Given the description of an element on the screen output the (x, y) to click on. 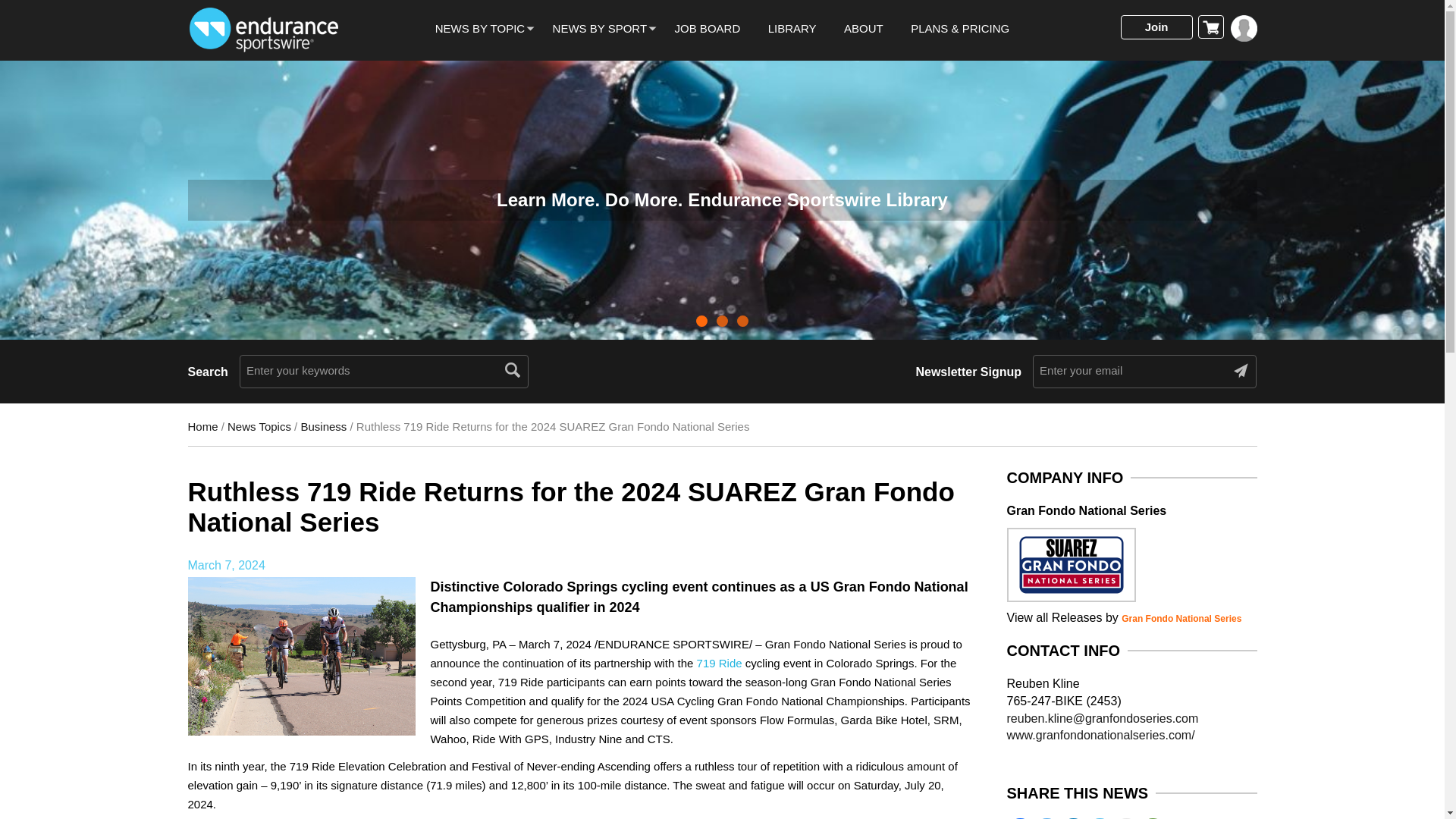
LIBRARY (792, 28)
ABOUT (863, 28)
JOB BOARD (708, 28)
NEWS BY SPORT (599, 28)
